Given the description of an element on the screen output the (x, y) to click on. 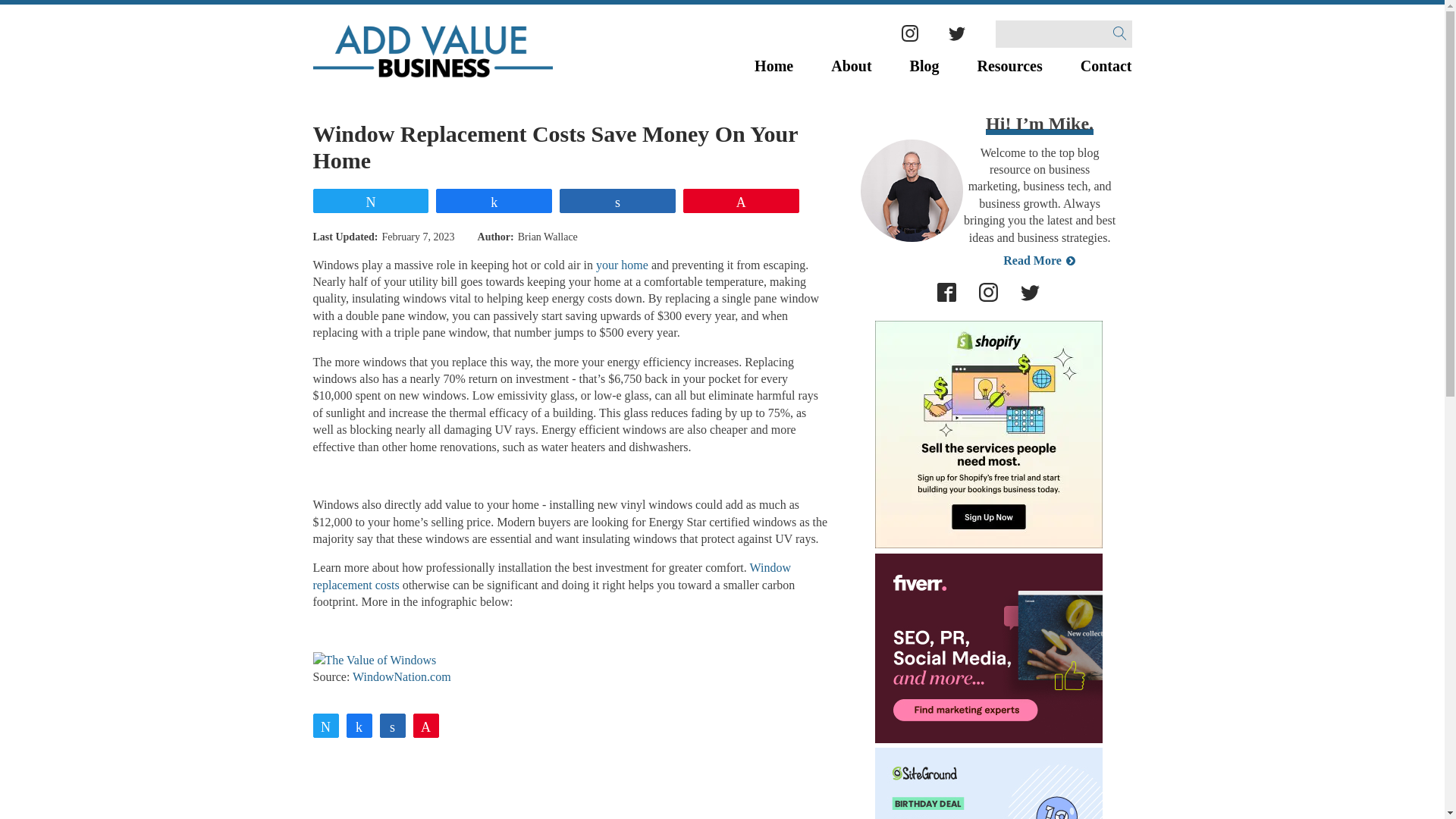
Blog (924, 65)
Home (773, 65)
Window replacement costs (551, 575)
Resources (1009, 65)
your home (621, 264)
Contact (1106, 65)
About (850, 65)
WindowNation.com (401, 676)
Read More (1032, 260)
Search (31, 13)
